Given the description of an element on the screen output the (x, y) to click on. 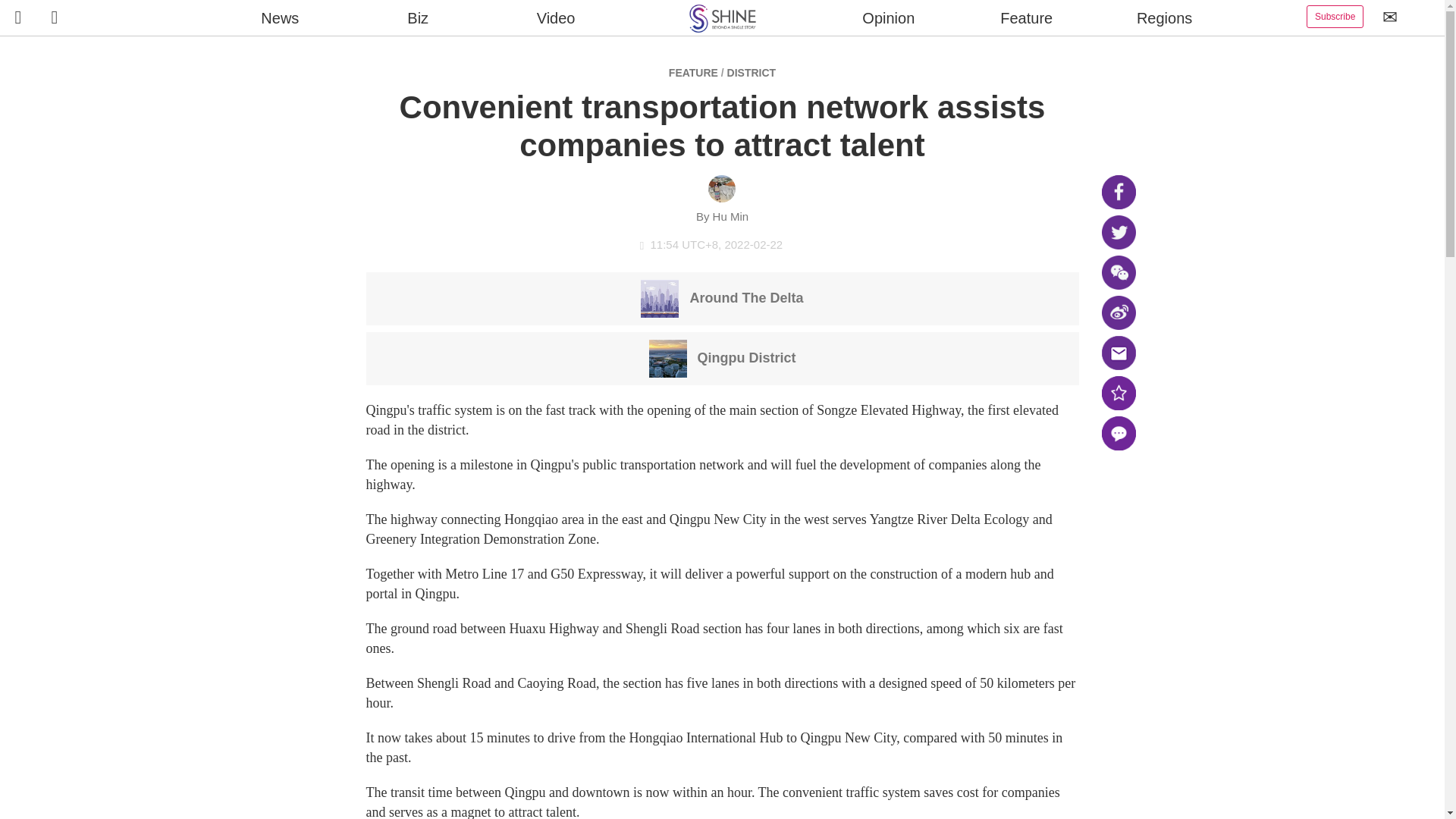
FEATURE (692, 72)
Around The Delta (721, 297)
Qingpu District (722, 357)
Share your comments (1117, 433)
Share via email (1117, 352)
Add to favorites (1117, 392)
DISTRICT (751, 72)
